Given the description of an element on the screen output the (x, y) to click on. 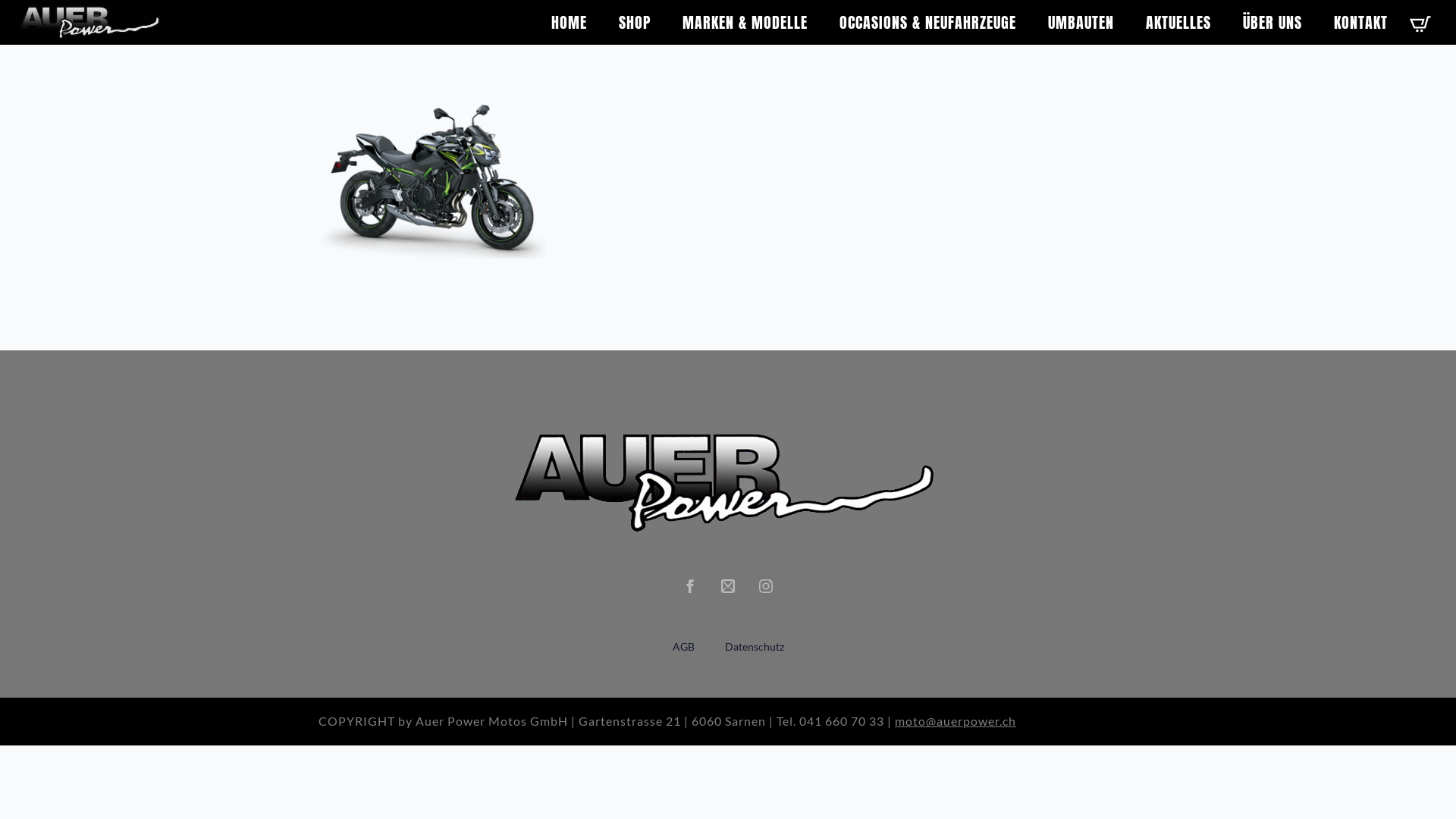
KONTAKT Element type: text (1360, 18)
AKTUELLES Element type: text (1178, 18)
MARKEN & MODELLE Element type: text (744, 18)
moto@auerpower.ch Element type: text (955, 720)
HOME Element type: text (569, 18)
UMBAUTEN Element type: text (1080, 18)
AGB Element type: text (682, 646)
SHOP Element type: text (634, 18)
Datenschutz Element type: text (754, 646)
OCCASIONS & NEUFAHRZEUGE Element type: text (927, 18)
